Given the description of an element on the screen output the (x, y) to click on. 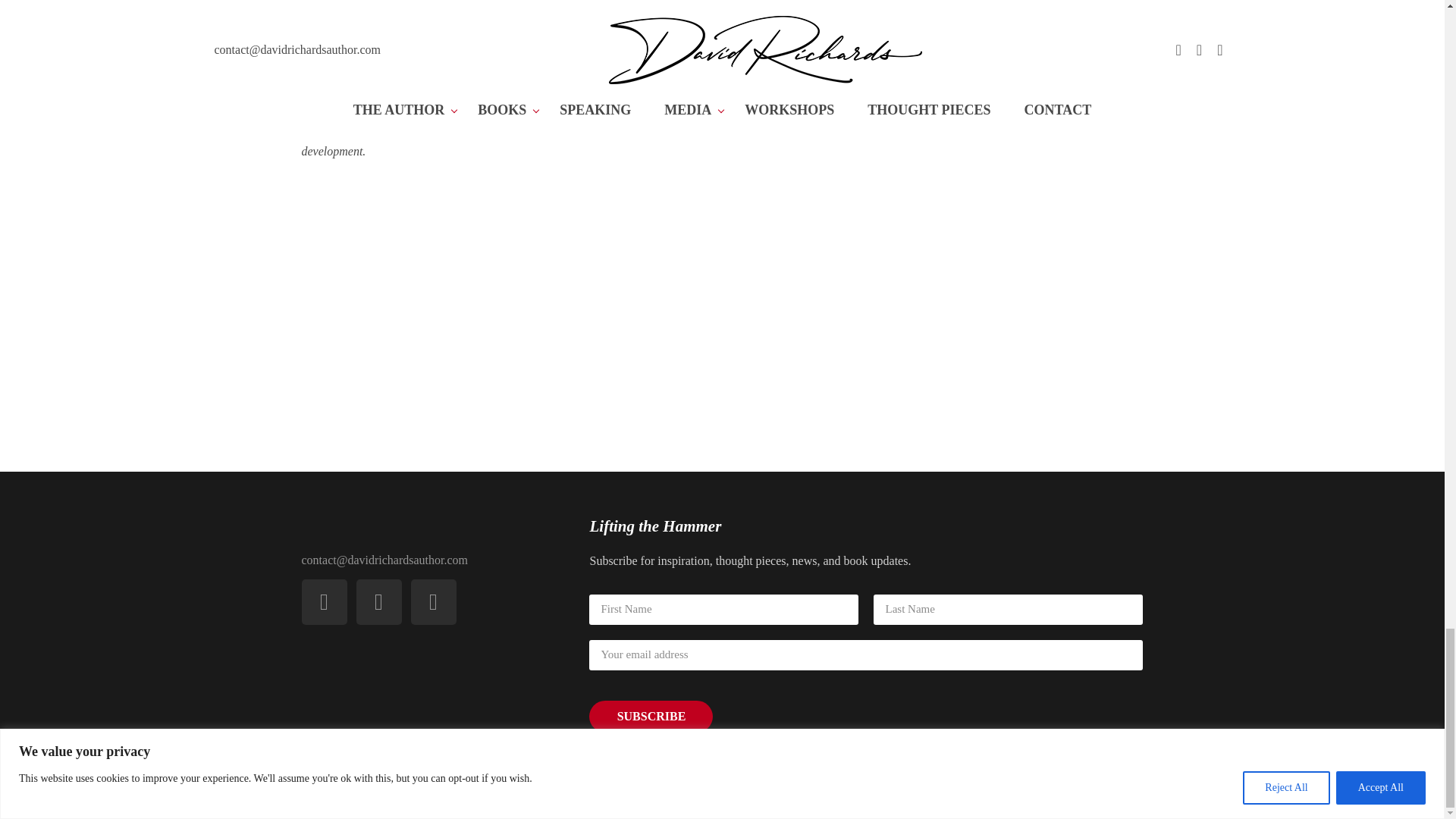
Subscribe (651, 716)
